Given the description of an element on the screen output the (x, y) to click on. 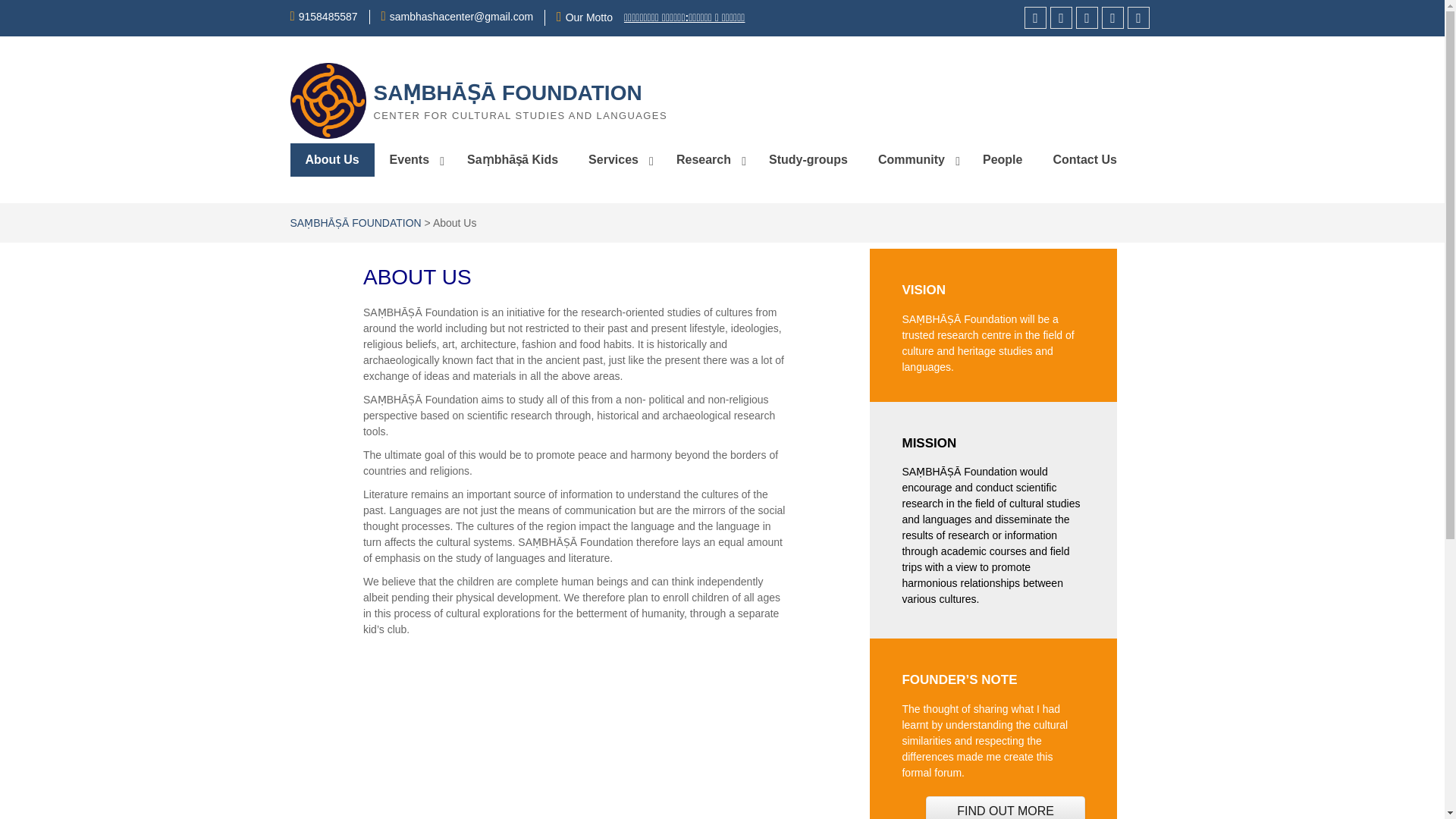
Facebook (1035, 17)
Community (915, 159)
FIND OUT MORE (1005, 807)
Research (707, 159)
Instagram (1060, 17)
9158485587 (328, 16)
Study-groups (808, 159)
Contact Us (1083, 159)
Sign Up (1138, 17)
Services (617, 159)
About Us (331, 159)
People (1002, 159)
Events (412, 159)
YouTube (1086, 17)
Mail (1113, 17)
